Given the description of an element on the screen output the (x, y) to click on. 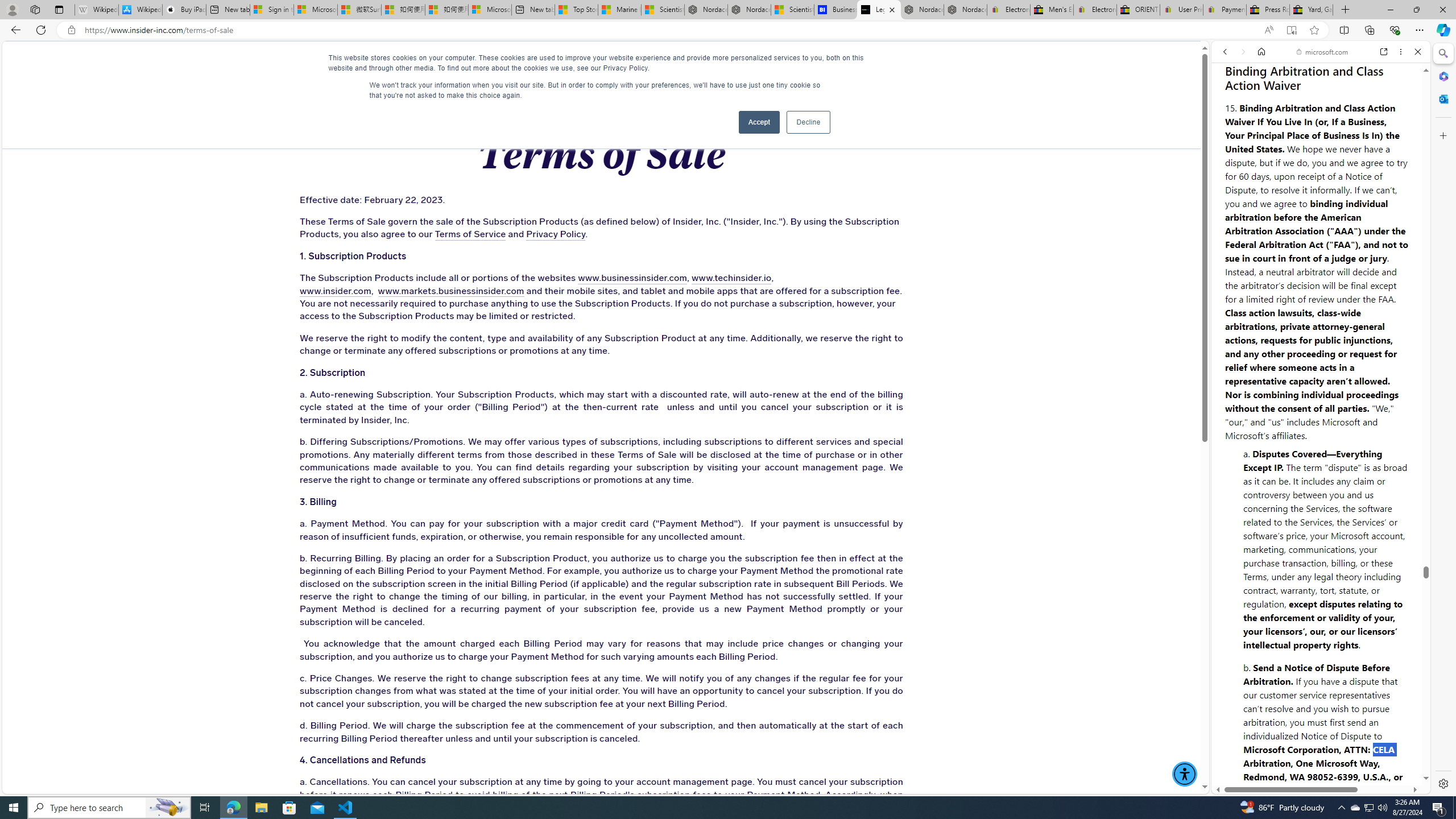
CAREERS (830, 62)
Web scope (1230, 102)
Minimize Search pane (1442, 53)
www.markets.businessinsider.com (450, 291)
Terms of Service (469, 234)
Insider Inc. (602, 63)
